Given the description of an element on the screen output the (x, y) to click on. 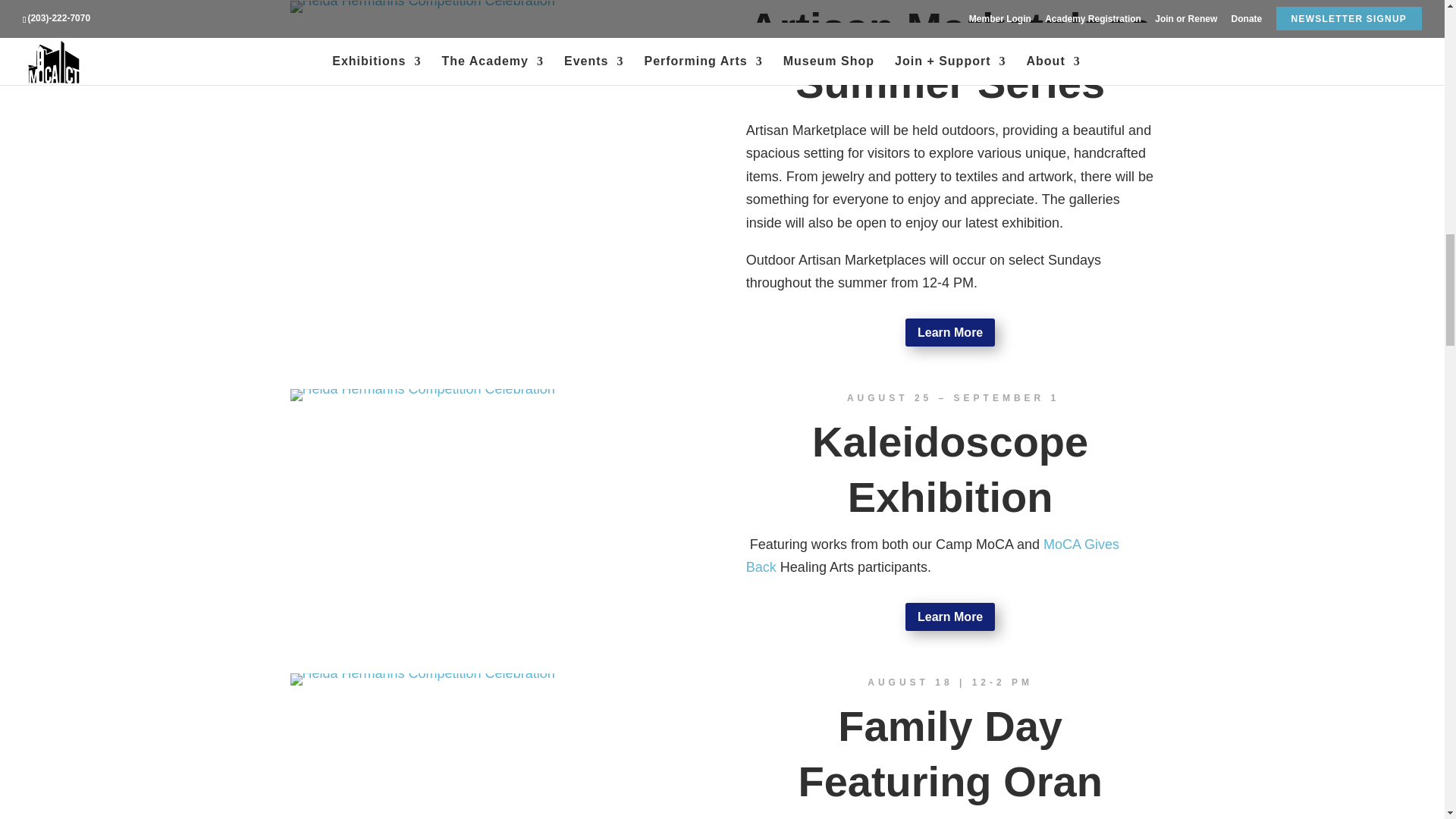
family day (421, 679)
Kaleidoscope 2024 (421, 395)
